Given the description of an element on the screen output the (x, y) to click on. 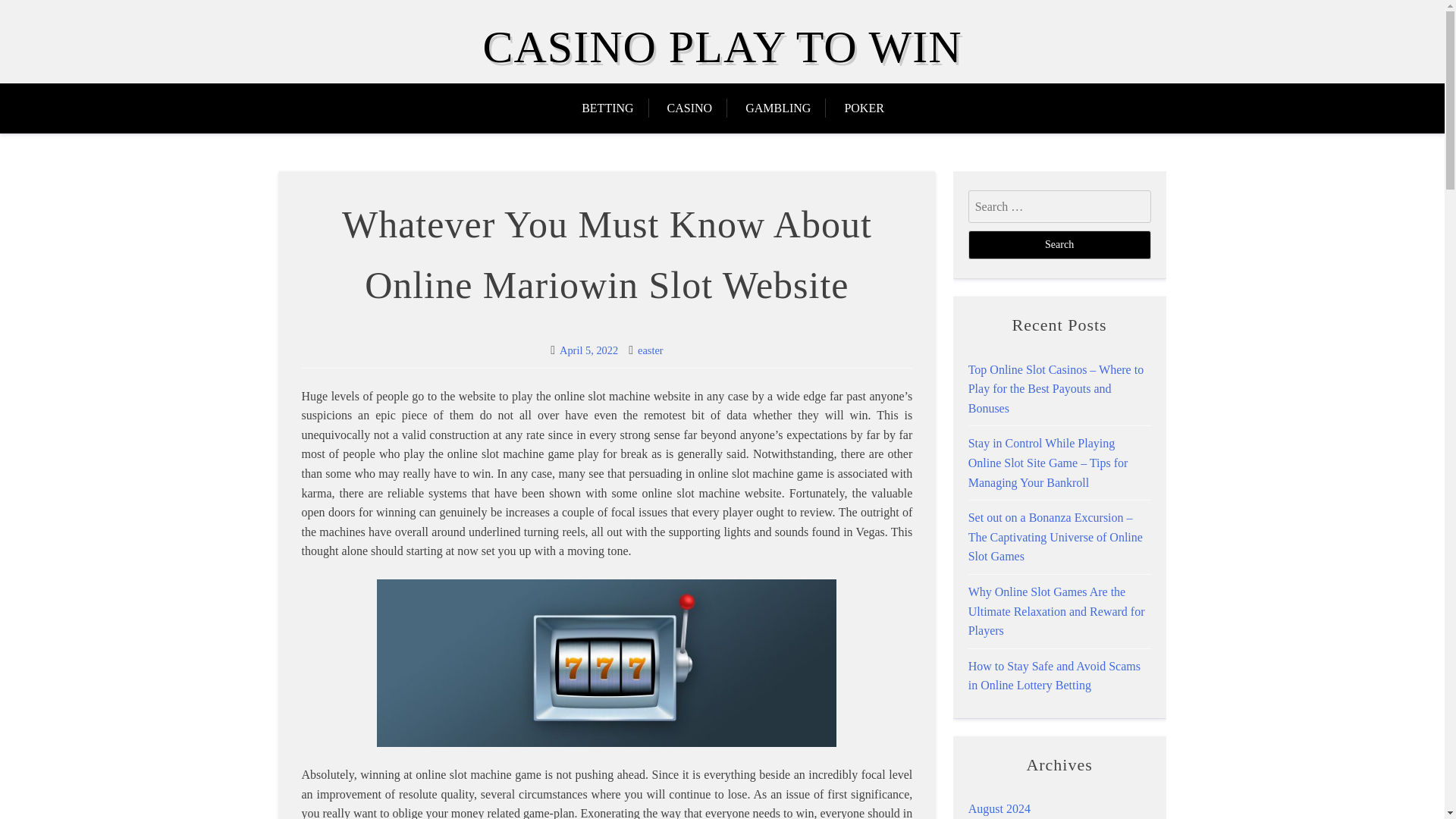
BETTING (613, 108)
POKER (863, 108)
August 2024 (999, 808)
April 5, 2022 (588, 349)
Search (1059, 244)
How to Stay Safe and Avoid Scams in Online Lottery Betting (1054, 676)
CASINO PLAY TO WIN (720, 47)
CASINO (690, 108)
Search (1059, 244)
